Given the description of an element on the screen output the (x, y) to click on. 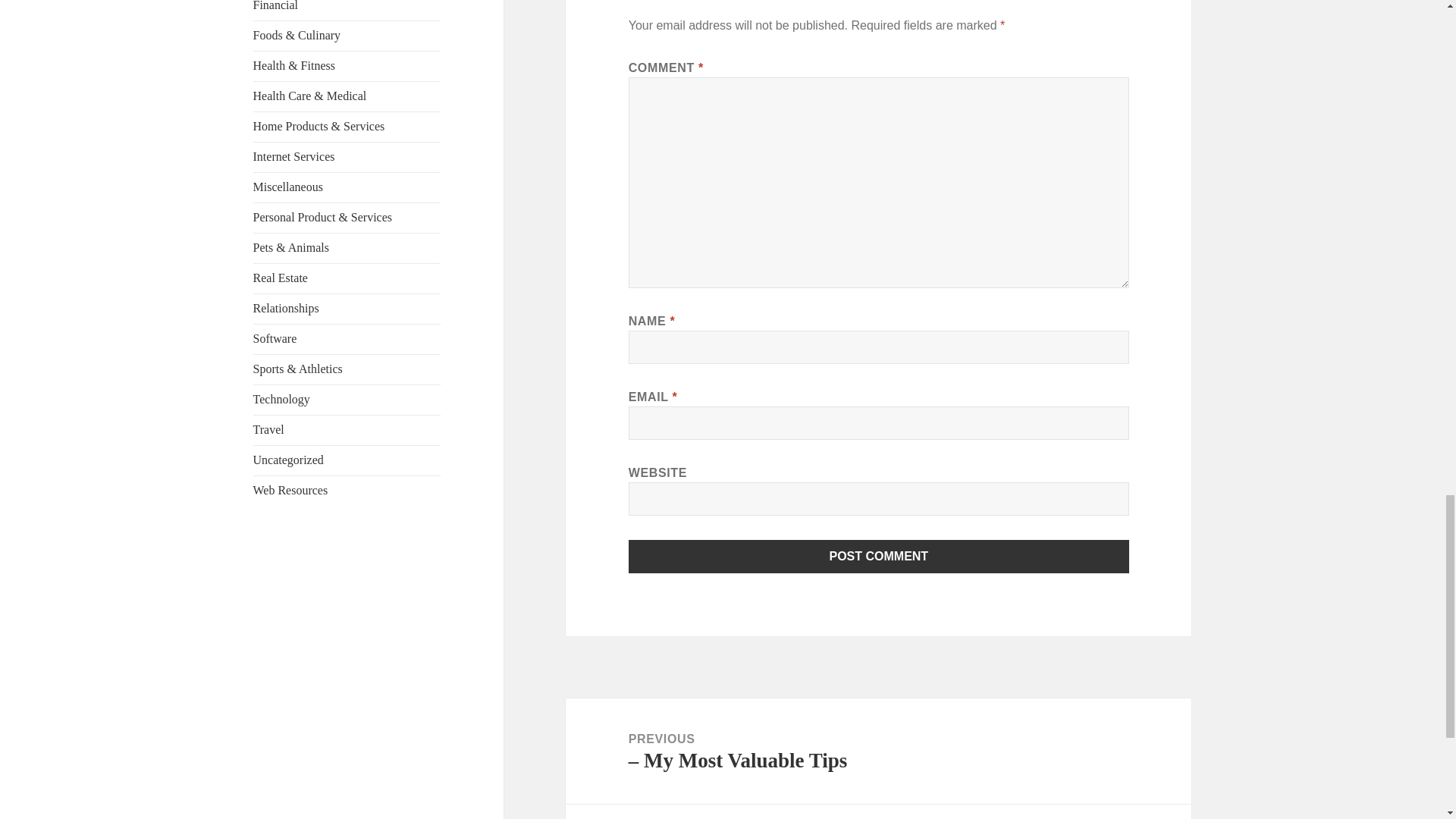
Financial (275, 5)
Post Comment (878, 556)
